Given the description of an element on the screen output the (x, y) to click on. 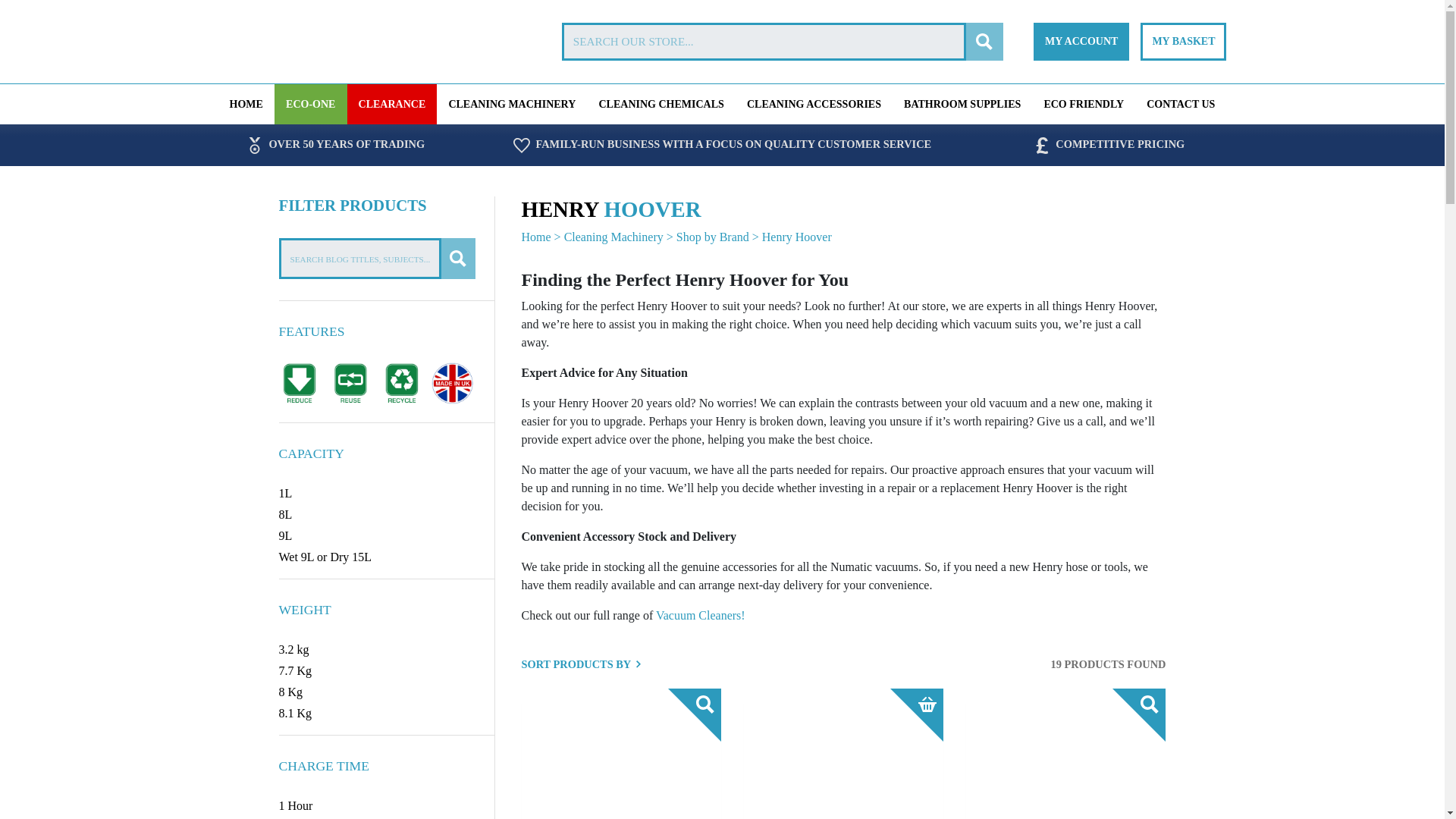
HOME (246, 104)
CLEARANCE (392, 104)
MY BASKET (1182, 41)
MY ACCOUNT (1081, 41)
ECO-ONE (311, 104)
CLEANING MACHINERY (511, 104)
